Given the description of an element on the screen output the (x, y) to click on. 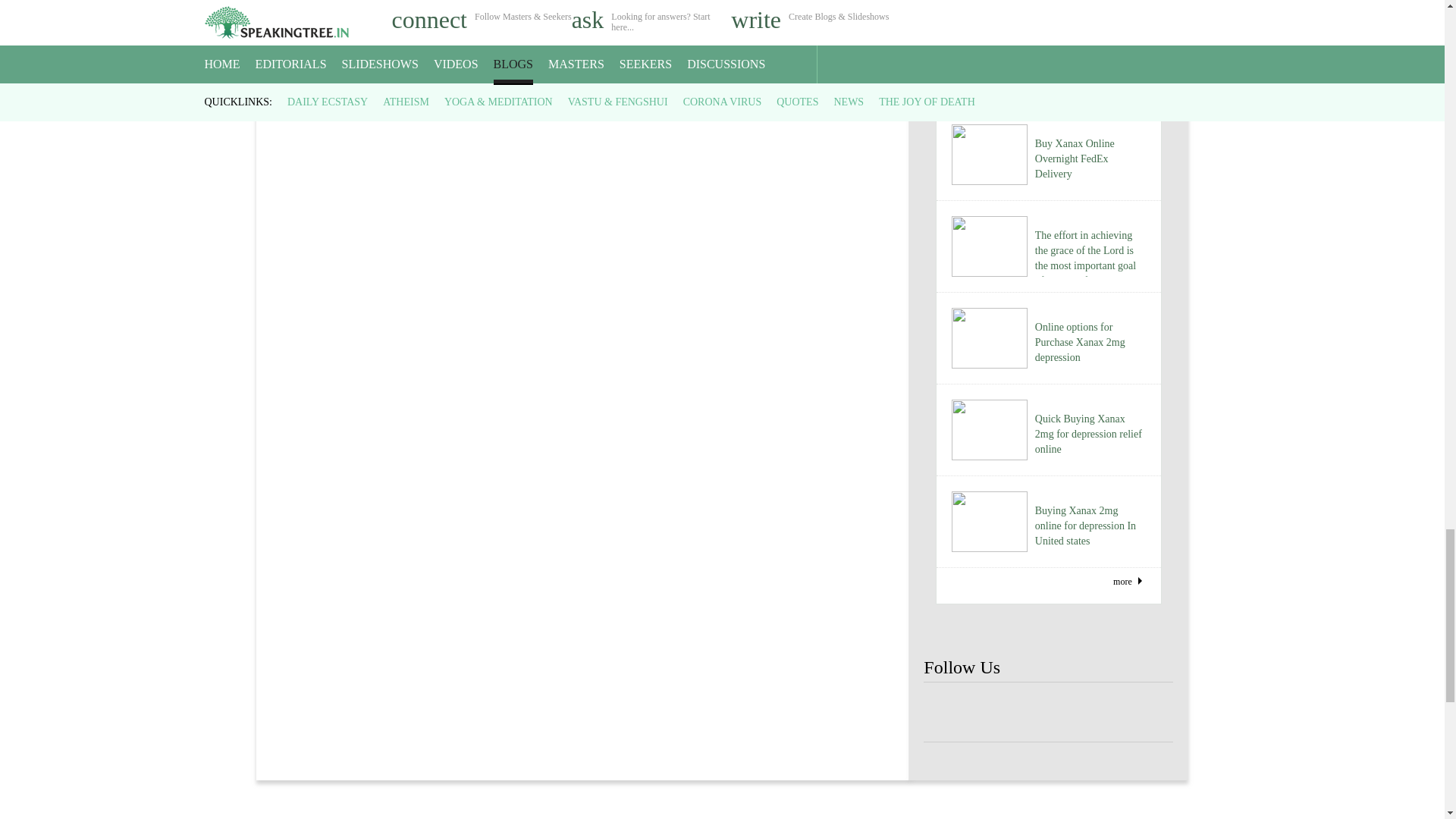
Speaking Tree FaceBook (1147, 712)
Speaking Tree FaceBook (948, 712)
Speaking Tree FaceBook (1099, 712)
Speaking Tree FaceBook (998, 712)
Speaking Tree FaceBook (1048, 712)
